Given the description of an element on the screen output the (x, y) to click on. 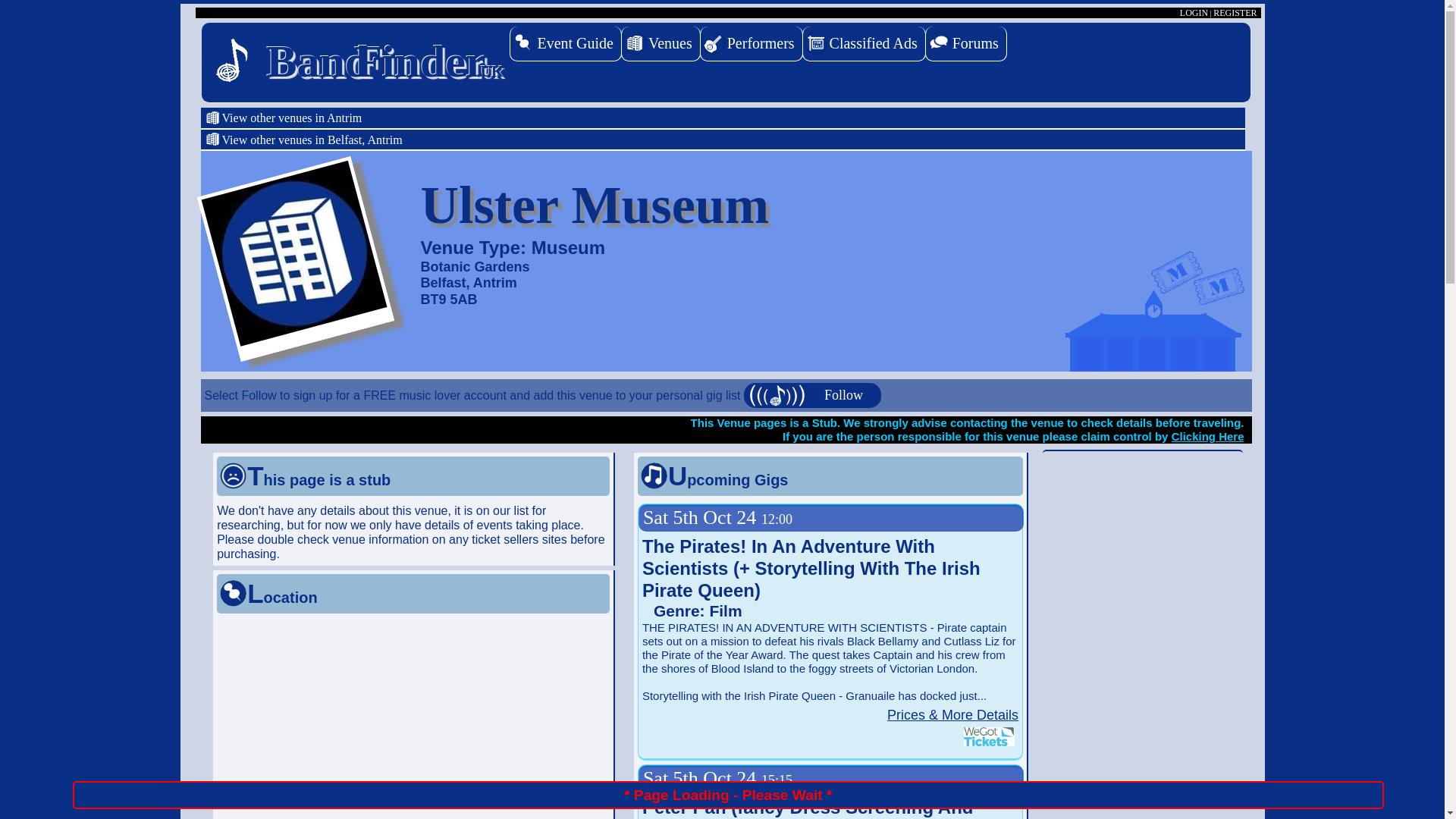
Classified Ads (864, 43)
View other venues in Antrim (725, 117)
Have your say on Everything Music related (965, 43)
Find Venues (660, 43)
Event Guide (565, 43)
Search for events by area and date (565, 43)
Venues (660, 43)
Forums (965, 43)
Performers (751, 43)
Click for more details about this gig (951, 714)
